Given the description of an element on the screen output the (x, y) to click on. 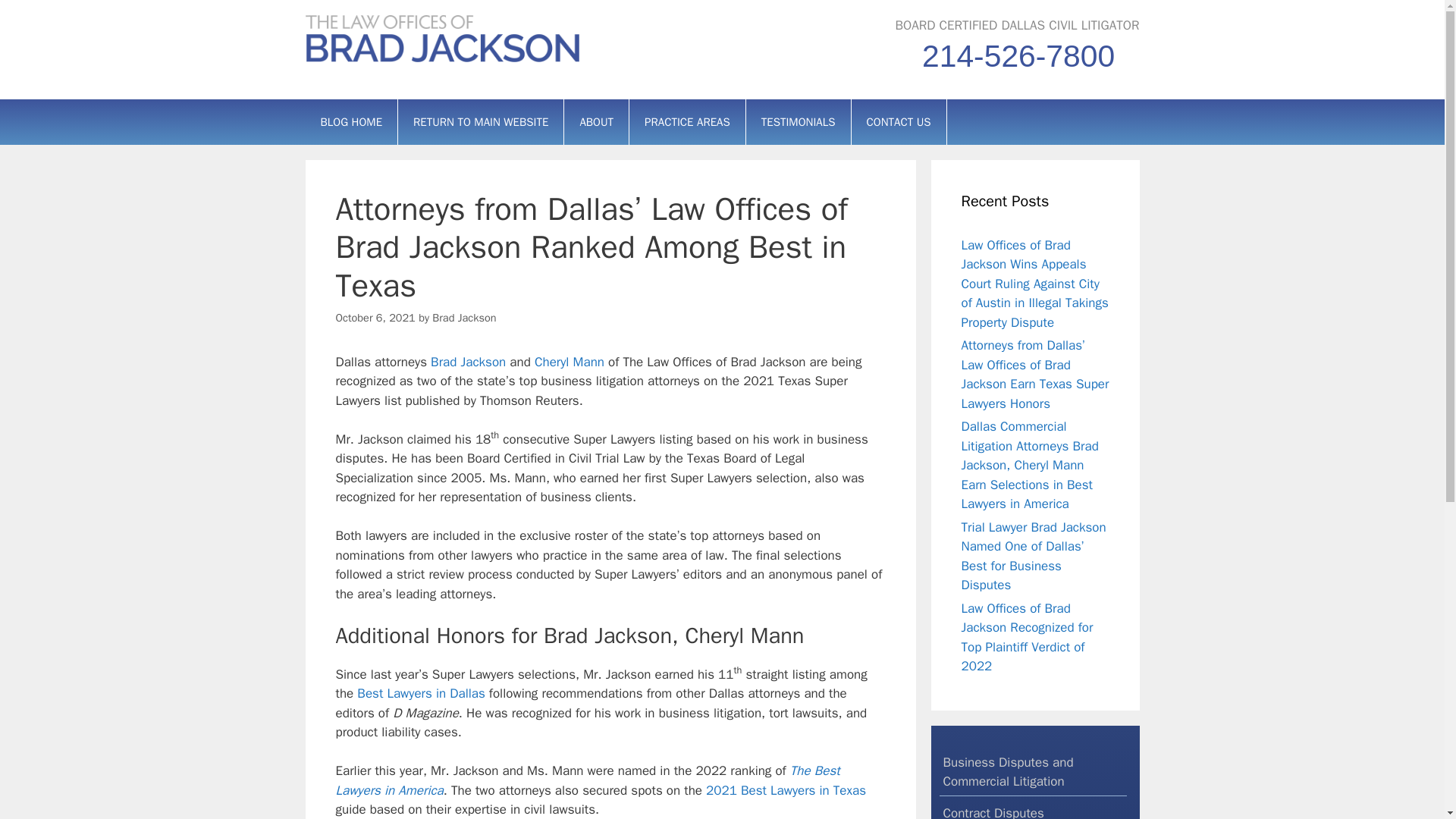
BLOG HOME (350, 121)
Business Disputes and Commercial Litigation (1032, 772)
Cheryl Mann (569, 361)
The Best Lawyers in America (587, 780)
CONTACT US (897, 121)
PRACTICE AREAS (686, 121)
TESTIMONIALS (797, 121)
View all posts by Brad Jackson (464, 317)
214-526-7800 (1017, 54)
ABOUT (596, 121)
RETURN TO MAIN WEBSITE (480, 121)
Best Lawyers in Dallas (420, 693)
Brad Jackson (464, 317)
